Given the description of an element on the screen output the (x, y) to click on. 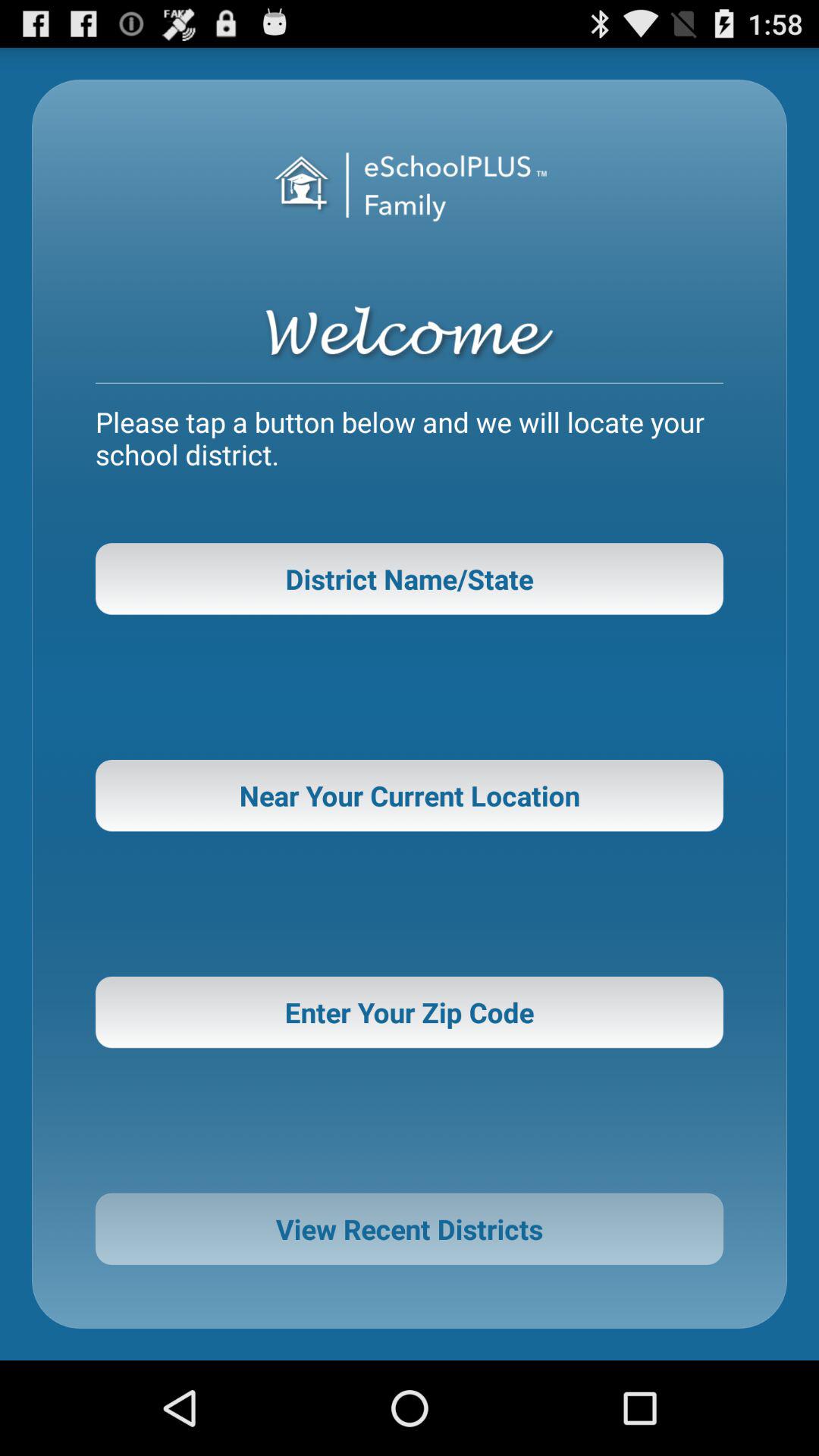
open icon above the view recent districts icon (409, 1012)
